Given the description of an element on the screen output the (x, y) to click on. 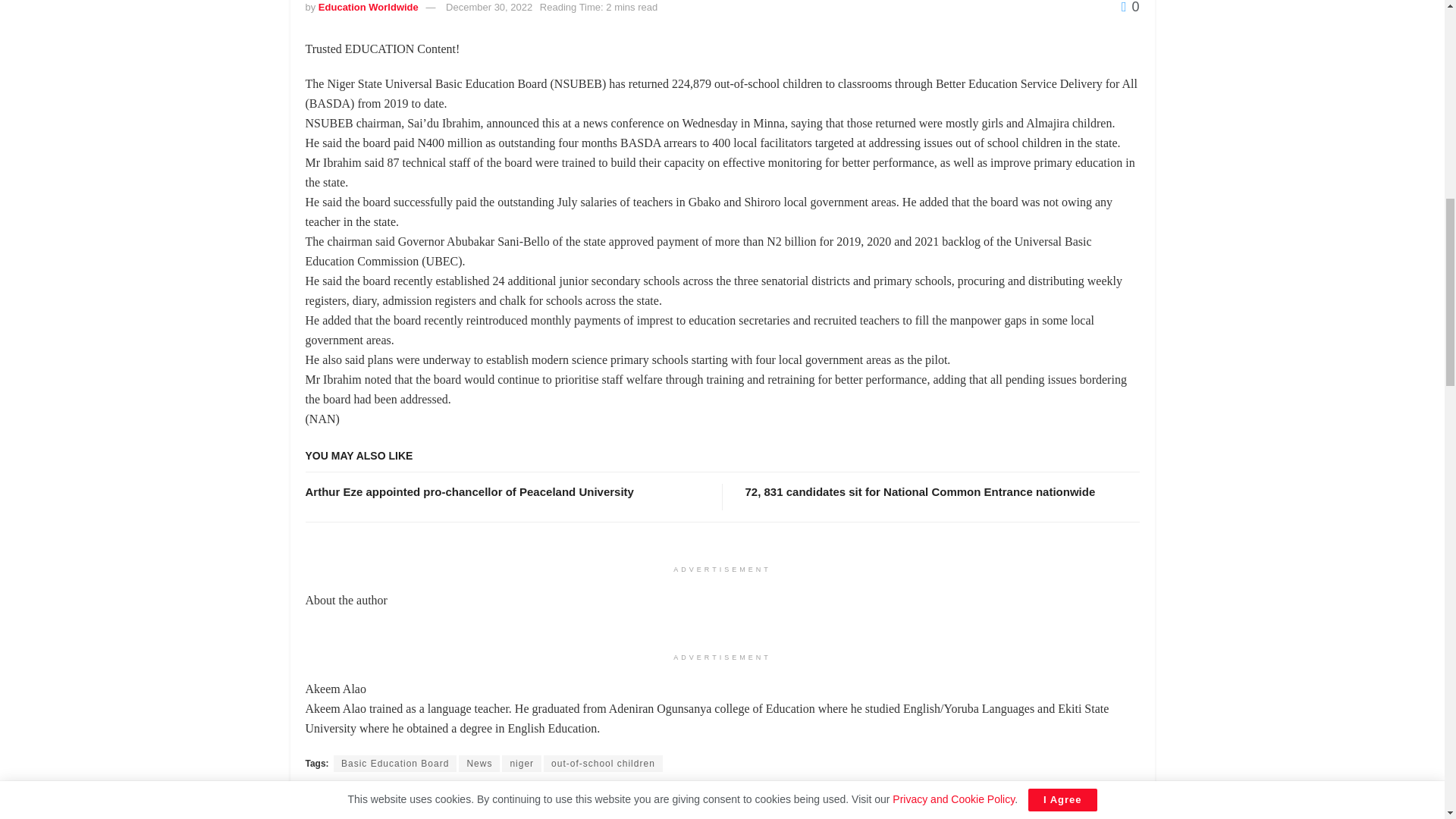
Education Worldwide (368, 7)
Basic Education Board (395, 763)
News (478, 763)
December 30, 2022 (488, 7)
0 (1130, 7)
Arthur Eze appointed pro-chancellor of Peaceland University (468, 491)
